Given the description of an element on the screen output the (x, y) to click on. 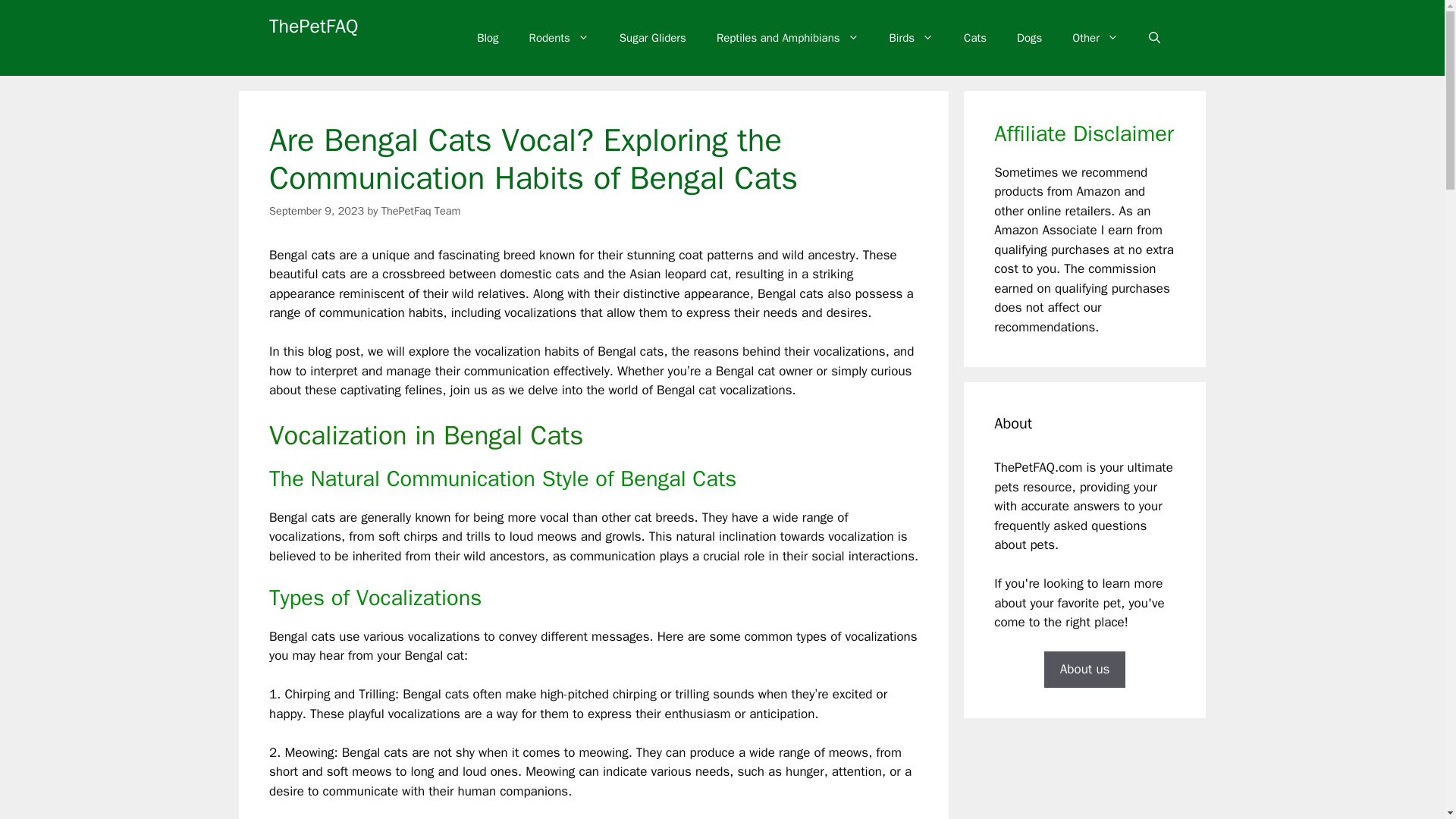
ThePetFaq Team (421, 210)
View all posts by ThePetFaq Team (421, 210)
Dogs (1029, 37)
Cats (975, 37)
ThePetFAQ (313, 25)
Other (1095, 37)
Sugar Gliders (652, 37)
Reptiles and Amphibians (788, 37)
Rodents (558, 37)
Birds (912, 37)
